Given the description of an element on the screen output the (x, y) to click on. 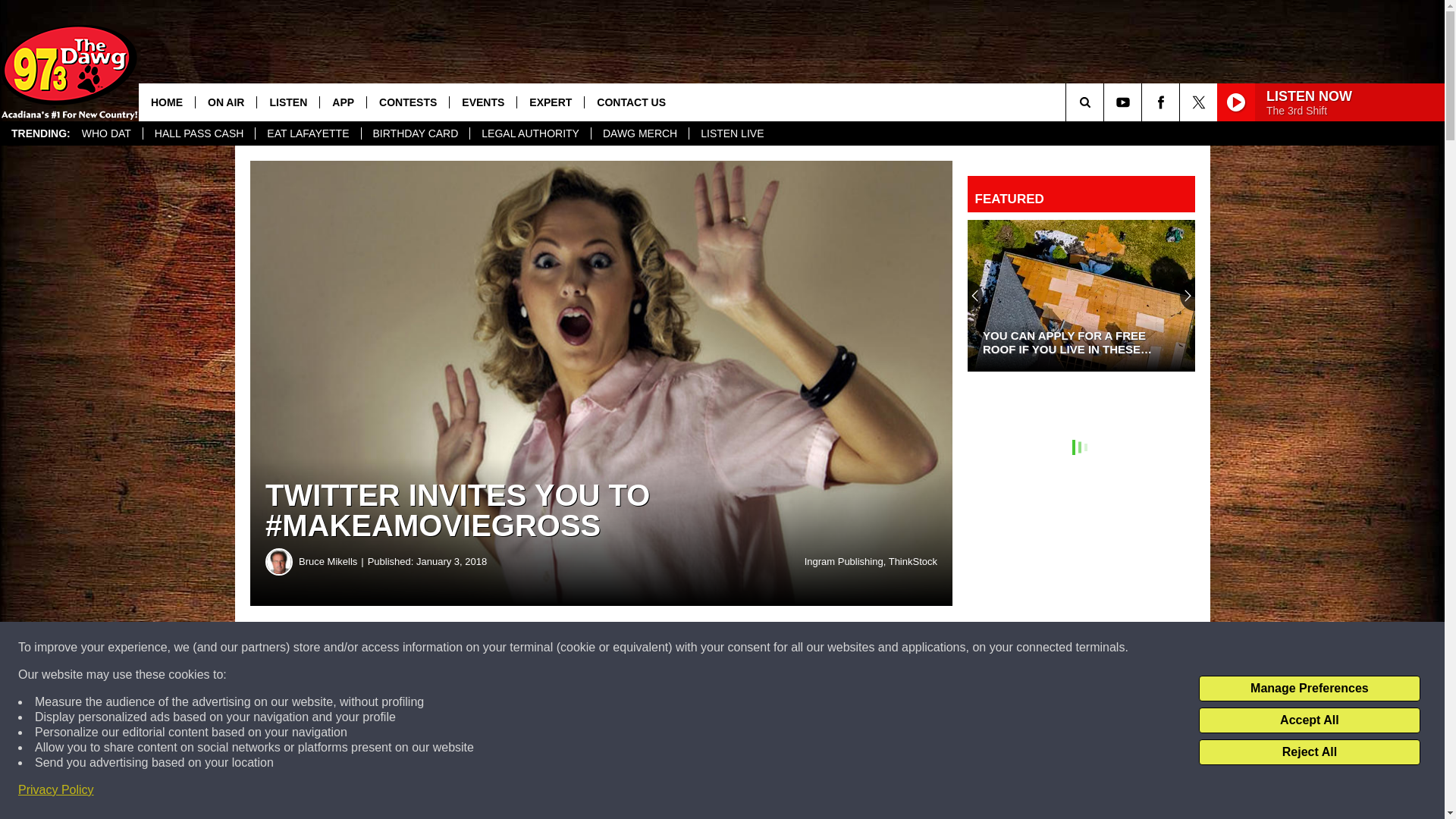
Share on Twitter (741, 647)
BIRTHDAY CARD (415, 133)
Share on Facebook (460, 647)
EAT LAFAYETTE (306, 133)
Reject All (1309, 751)
LISTEN LIVE (731, 133)
APP (342, 102)
WHO DAT (105, 133)
DAWG MERCH (639, 133)
HOME (166, 102)
